Given the description of an element on the screen output the (x, y) to click on. 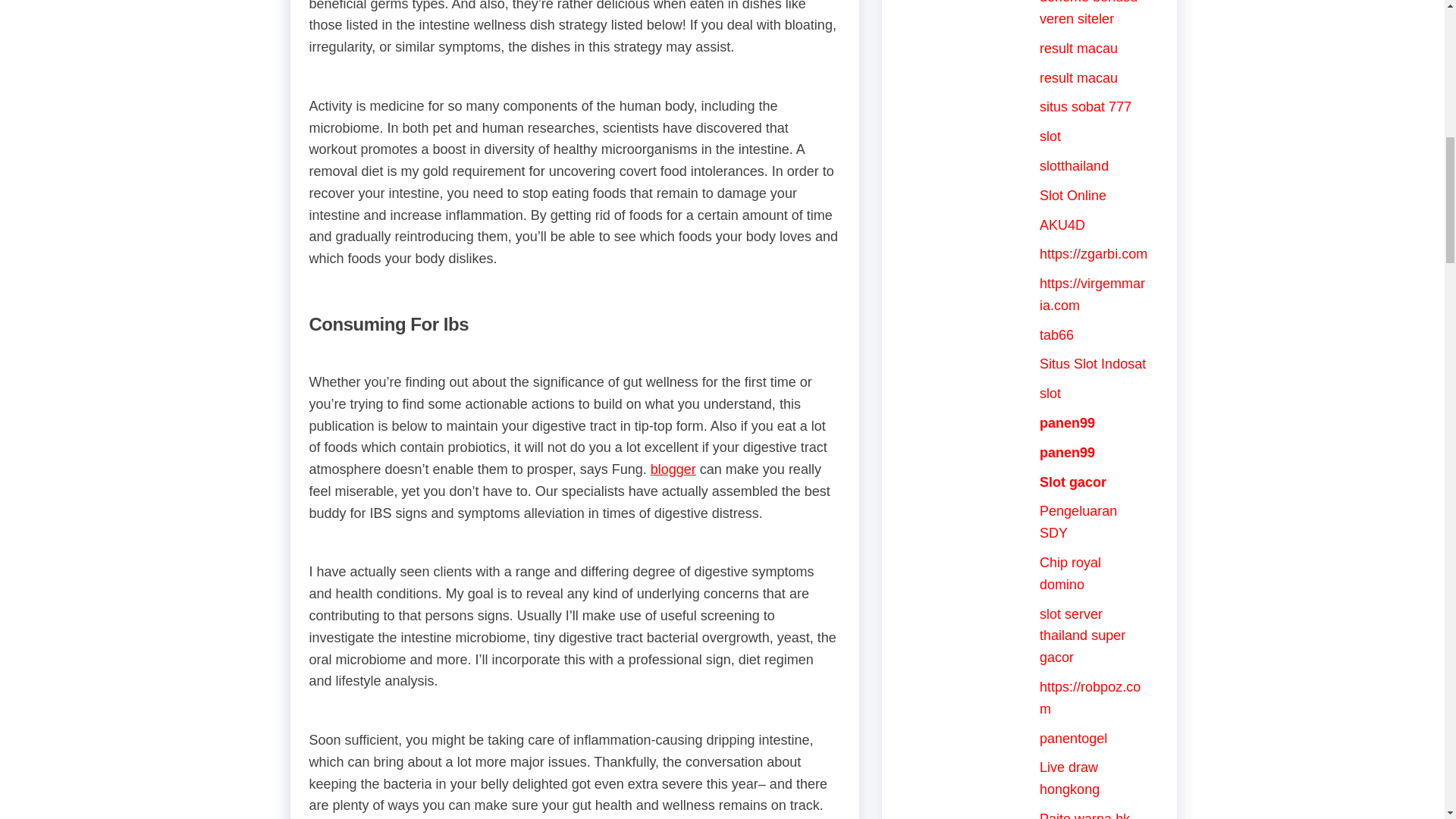
result macau (1078, 48)
slot (1050, 393)
panen99 (1066, 452)
situs sobat 777 (1085, 106)
Situs Slot Indosat (1092, 363)
Slot Online (1072, 195)
deneme bonusu veren siteler (1088, 13)
panen99 (1066, 422)
result macau (1078, 77)
slotthailand (1073, 165)
AKU4D (1061, 224)
slot (1050, 136)
tab66 (1056, 335)
blogger (672, 468)
